Given the description of an element on the screen output the (x, y) to click on. 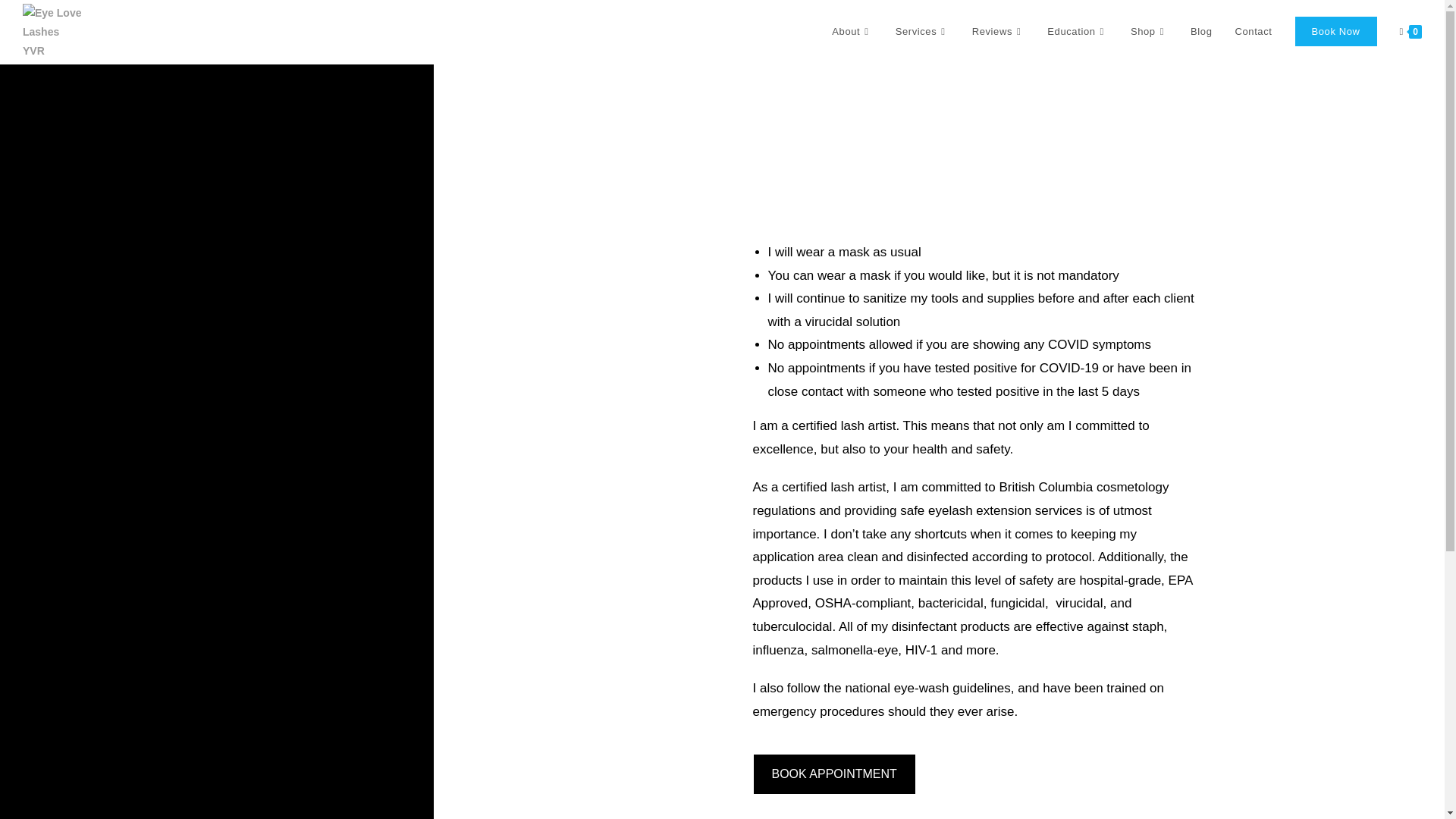
Contact (1252, 31)
Reviews (998, 31)
Education (1077, 31)
About (852, 31)
Services (921, 31)
Book Now (1334, 31)
Shop (1149, 31)
